Given the description of an element on the screen output the (x, y) to click on. 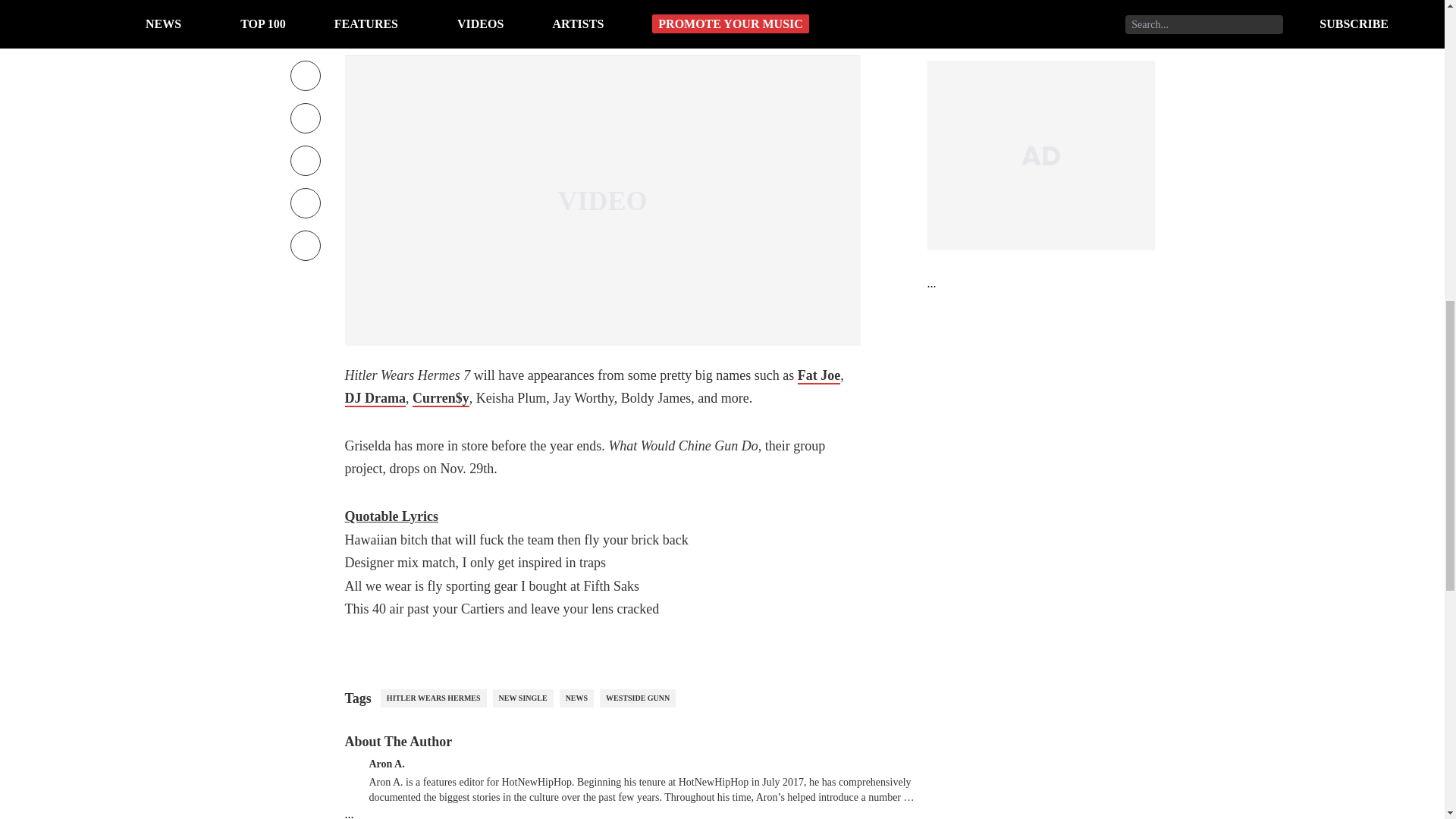
NEWS (576, 698)
HITLER WEARS HERMES (433, 698)
DJ Drama (373, 398)
Fat Joe (818, 375)
Aron A. (386, 762)
NEW SINGLE (523, 698)
WESTSIDE GUNN (637, 698)
